Given the description of an element on the screen output the (x, y) to click on. 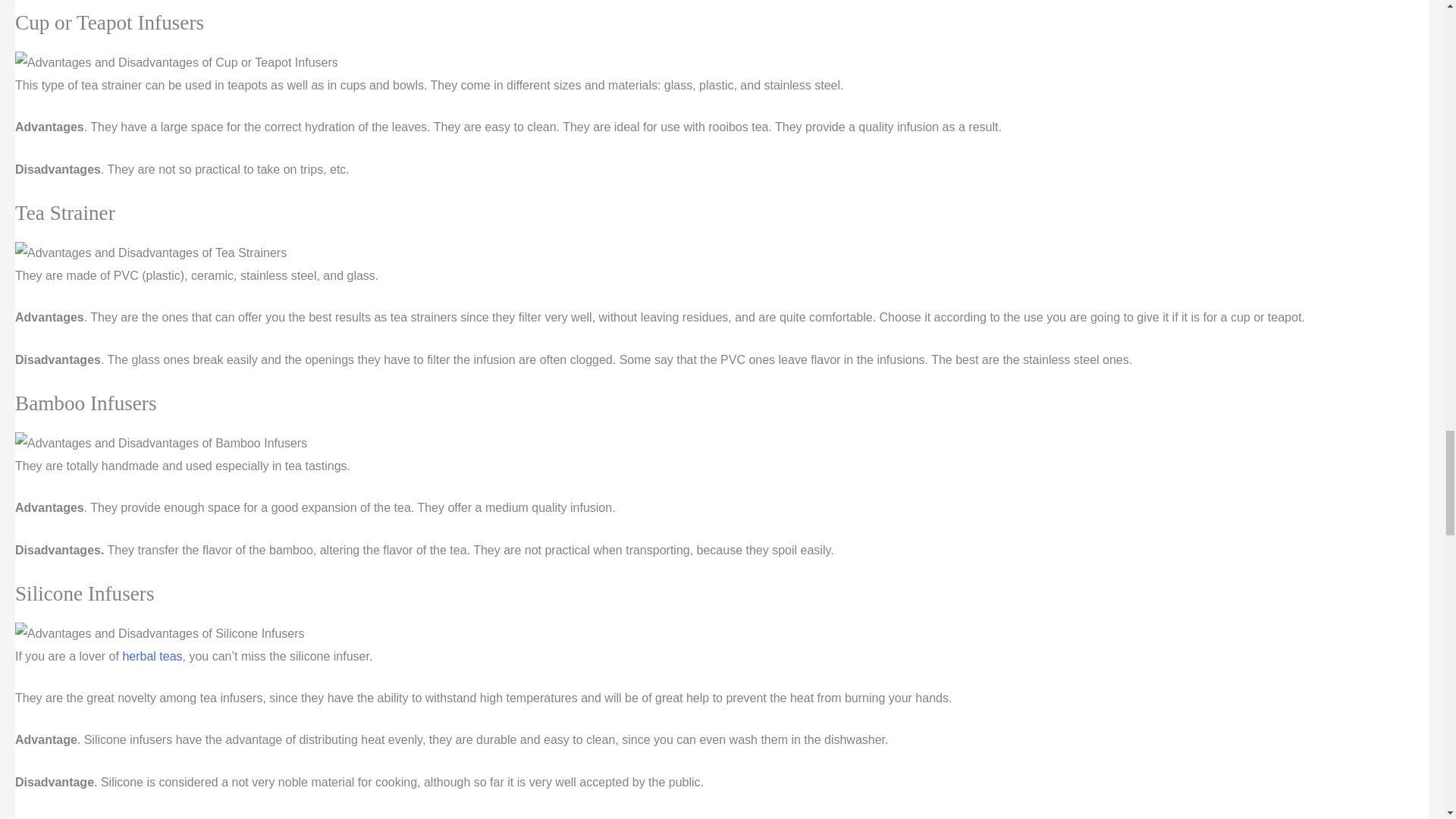
herbal teas (152, 656)
